Given the description of an element on the screen output the (x, y) to click on. 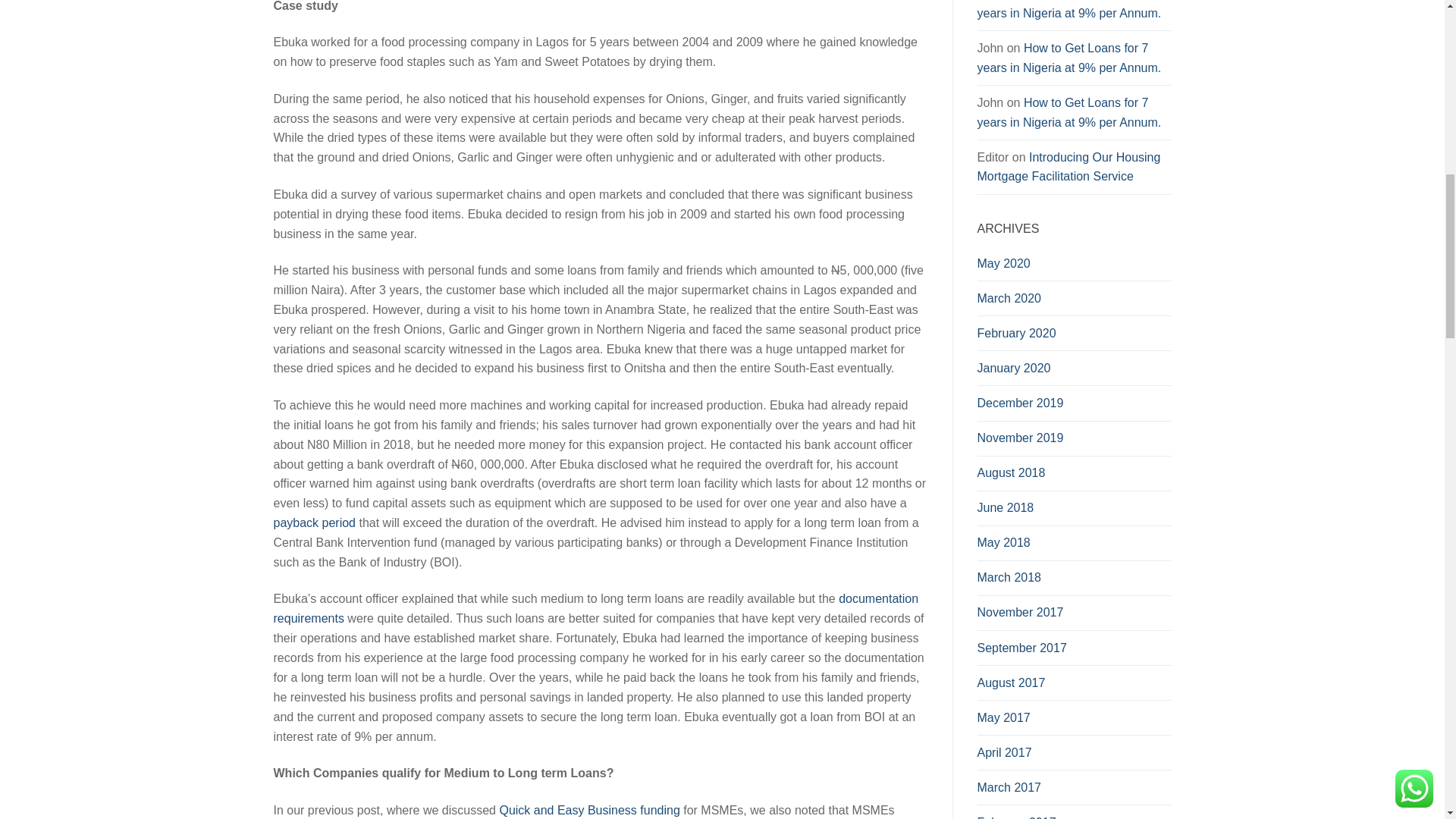
documentation requirements (595, 608)
Quick and Easy Business funding (589, 809)
payback period (314, 522)
